Given the description of an element on the screen output the (x, y) to click on. 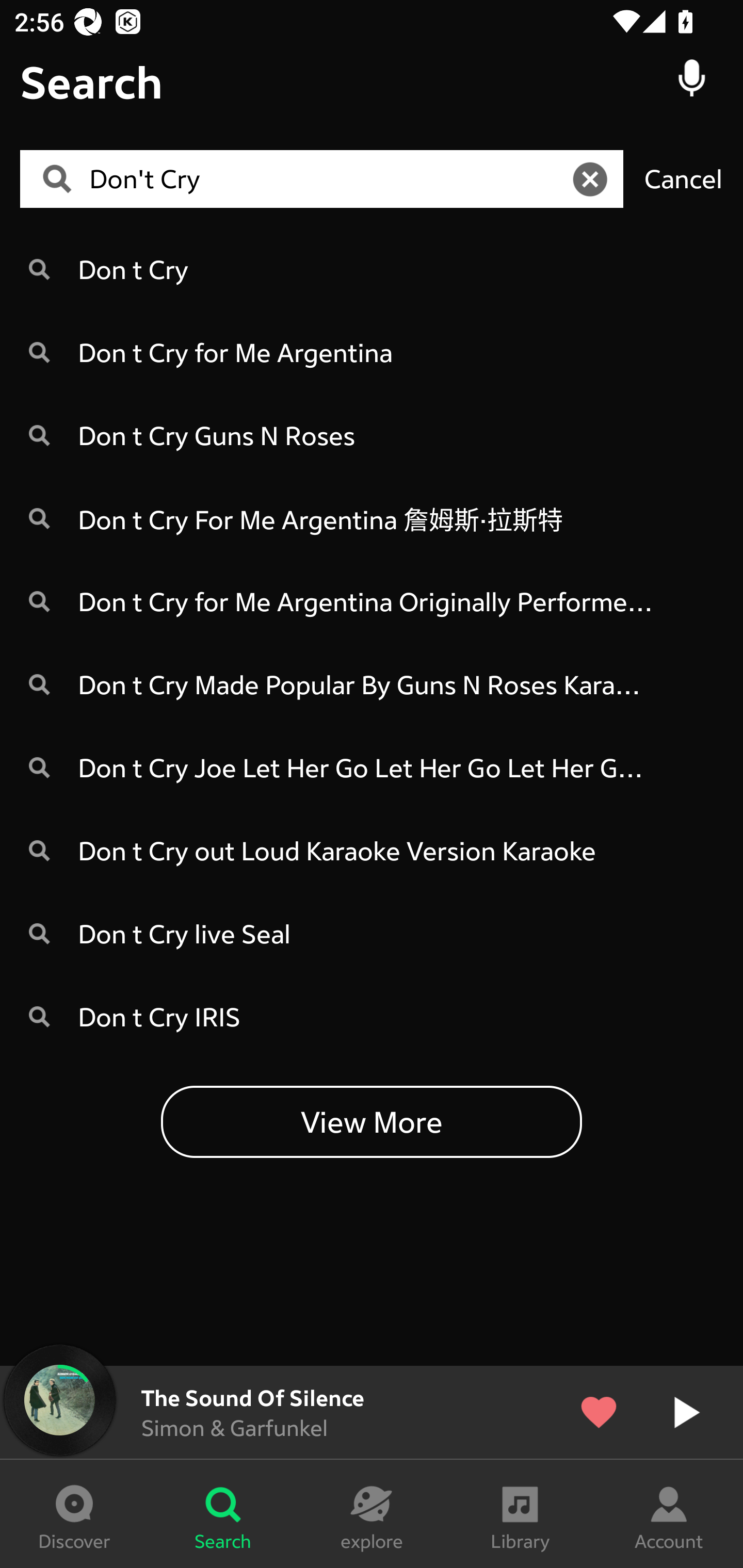
Cancel (683, 178)
Don't Cry (327, 179)
Don t Cry (371, 268)
Don t Cry for Me Argentina (371, 351)
Don t Cry Guns N Roses (371, 434)
Don t Cry For Me Argentina 詹姆斯·拉斯特 (371, 517)
Don t Cry out Loud Karaoke Version Karaoke (371, 850)
Don t Cry live Seal (371, 933)
Don t Cry IRIS (371, 1016)
View More (371, 1121)
The Sound Of Silence Simon & Garfunkel (371, 1412)
Discover (74, 1513)
explore (371, 1513)
Library (519, 1513)
Account (668, 1513)
